Given the description of an element on the screen output the (x, y) to click on. 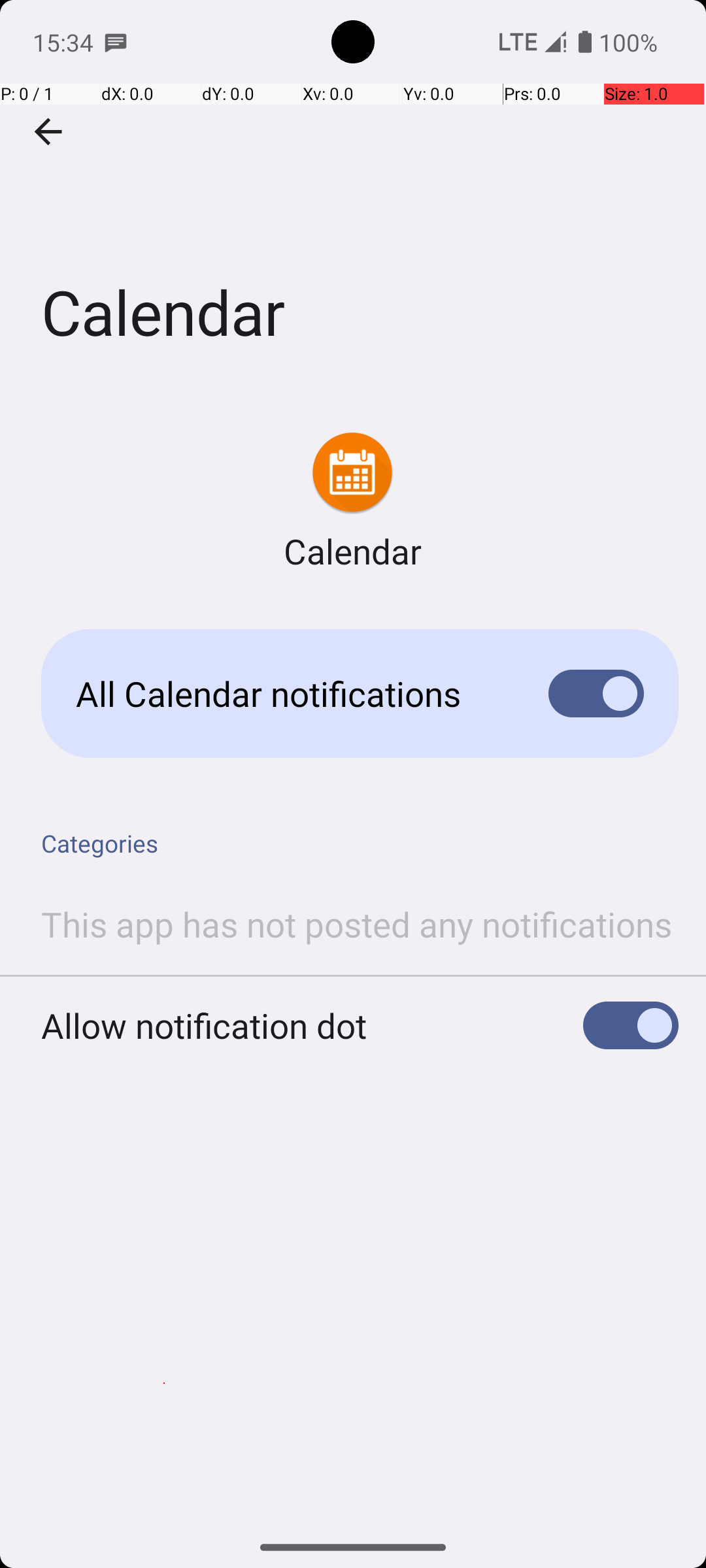
All Calendar notifications Element type: android.widget.TextView (291, 693)
This app has not posted any notifications Element type: android.widget.TextView (356, 923)
Allow notification dot Element type: android.widget.TextView (203, 1025)
